Given the description of an element on the screen output the (x, y) to click on. 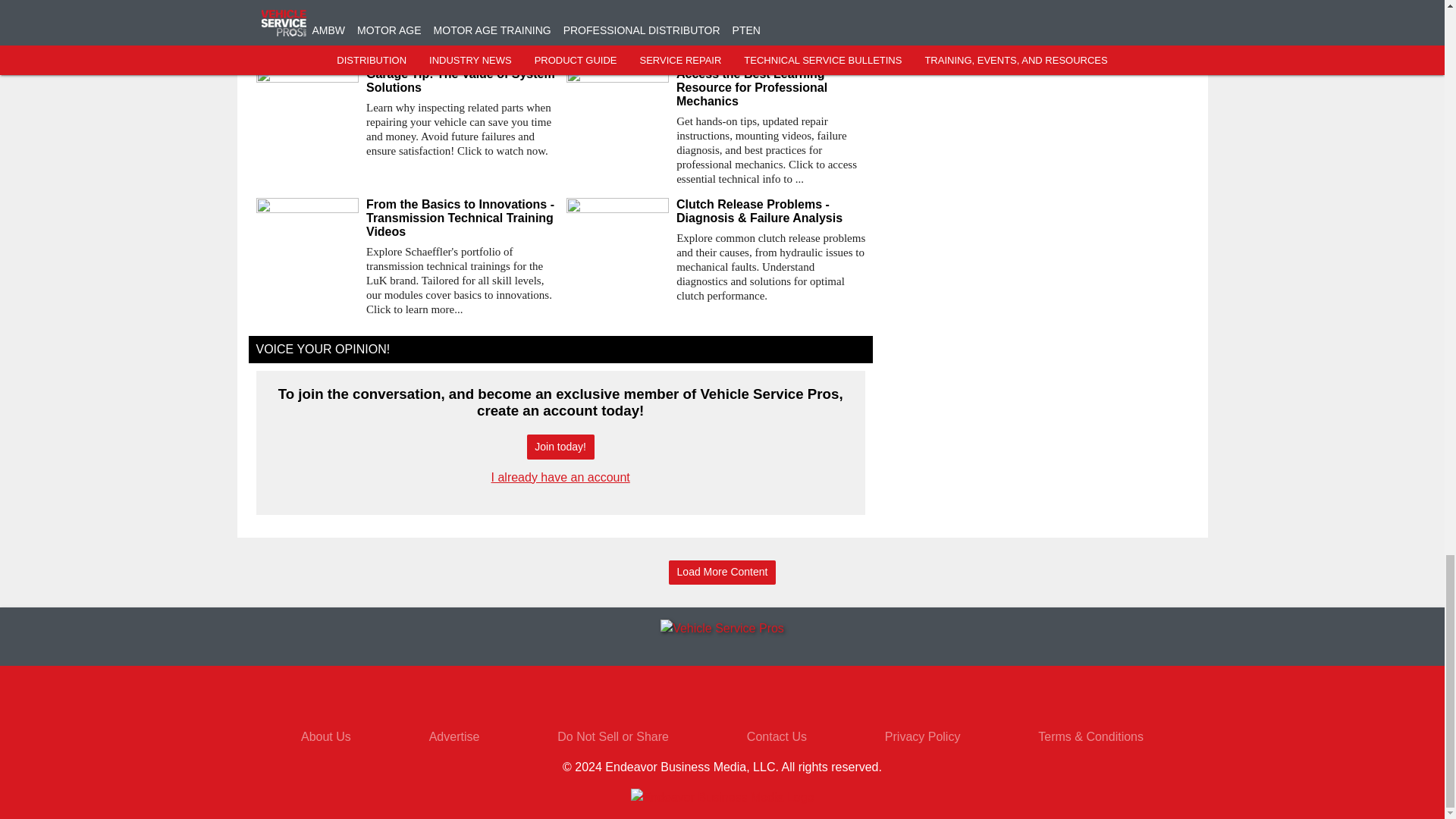
Access the Best Learning Resource for Professional Mechanics (770, 87)
I already have an account (561, 477)
Join today! (560, 446)
Garage Tip: The Value of System Solutions (459, 81)
Cold Weather May Cause Problems for Mazda EPB (715, 6)
